Given the description of an element on the screen output the (x, y) to click on. 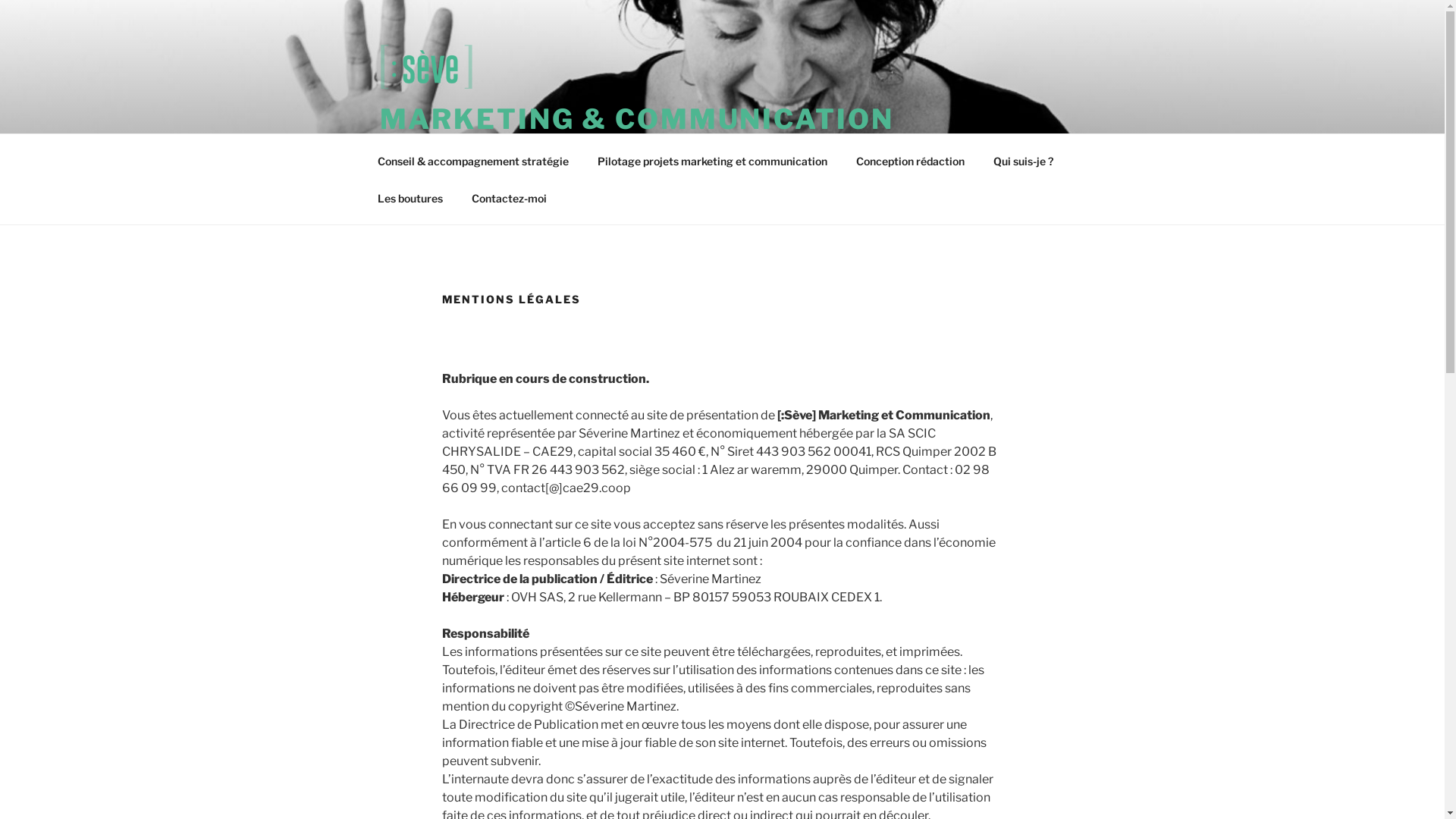
Les boutures Element type: text (409, 197)
Qui suis-je ? Element type: text (1022, 160)
Pilotage projets marketing et communication Element type: text (711, 160)
Contactez-moi Element type: text (508, 197)
Aller au contenu principal Element type: text (0, 0)
